Given the description of an element on the screen output the (x, y) to click on. 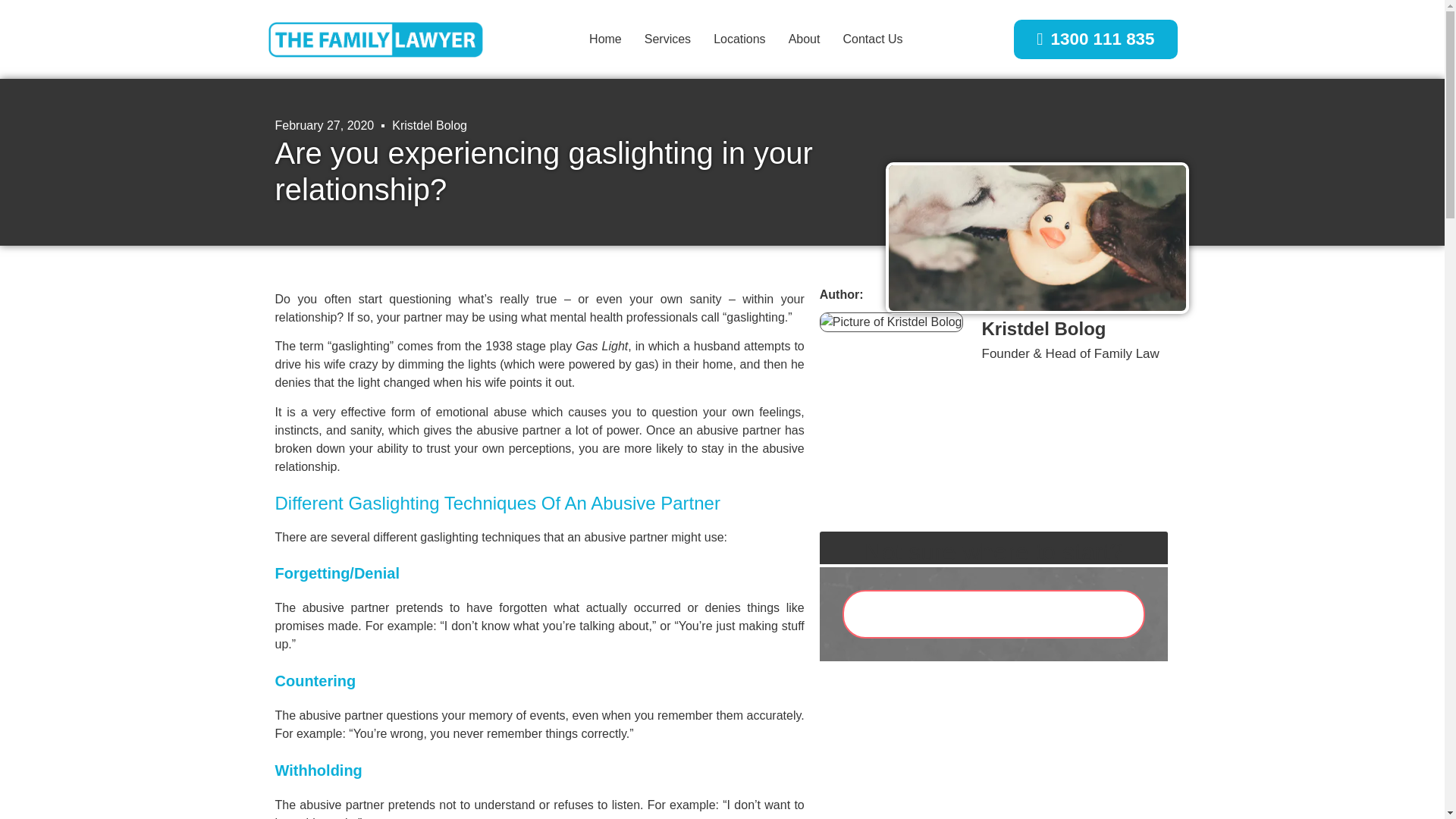
Contact Us (872, 39)
1300 111 835 (1094, 38)
February 27, 2020 (324, 126)
Locations (739, 39)
Services (667, 39)
Kristdel Bolog (429, 126)
